Given the description of an element on the screen output the (x, y) to click on. 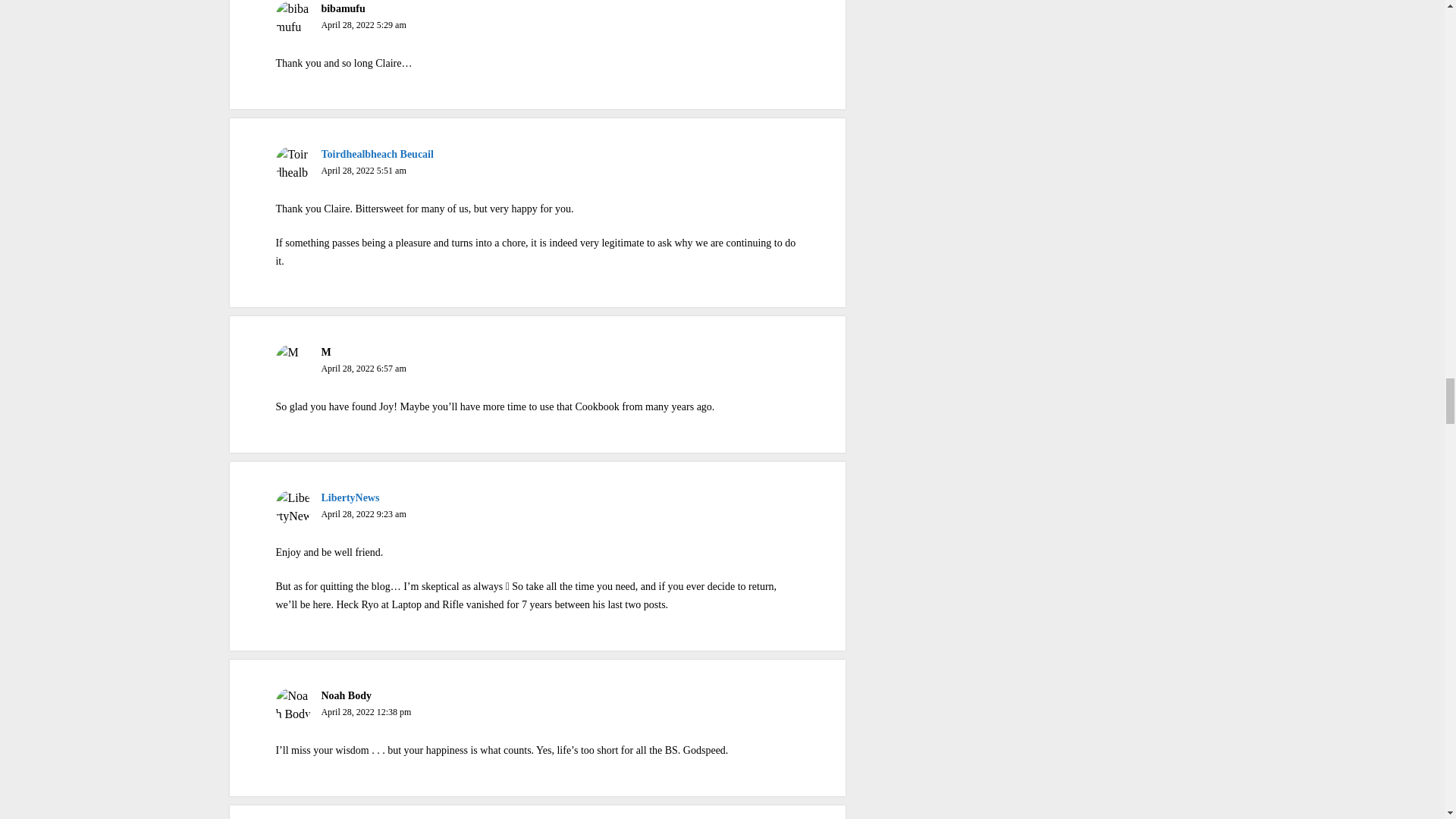
Toirdhealbheach Beucail (376, 153)
LibertyNews (349, 497)
